Given the description of an element on the screen output the (x, y) to click on. 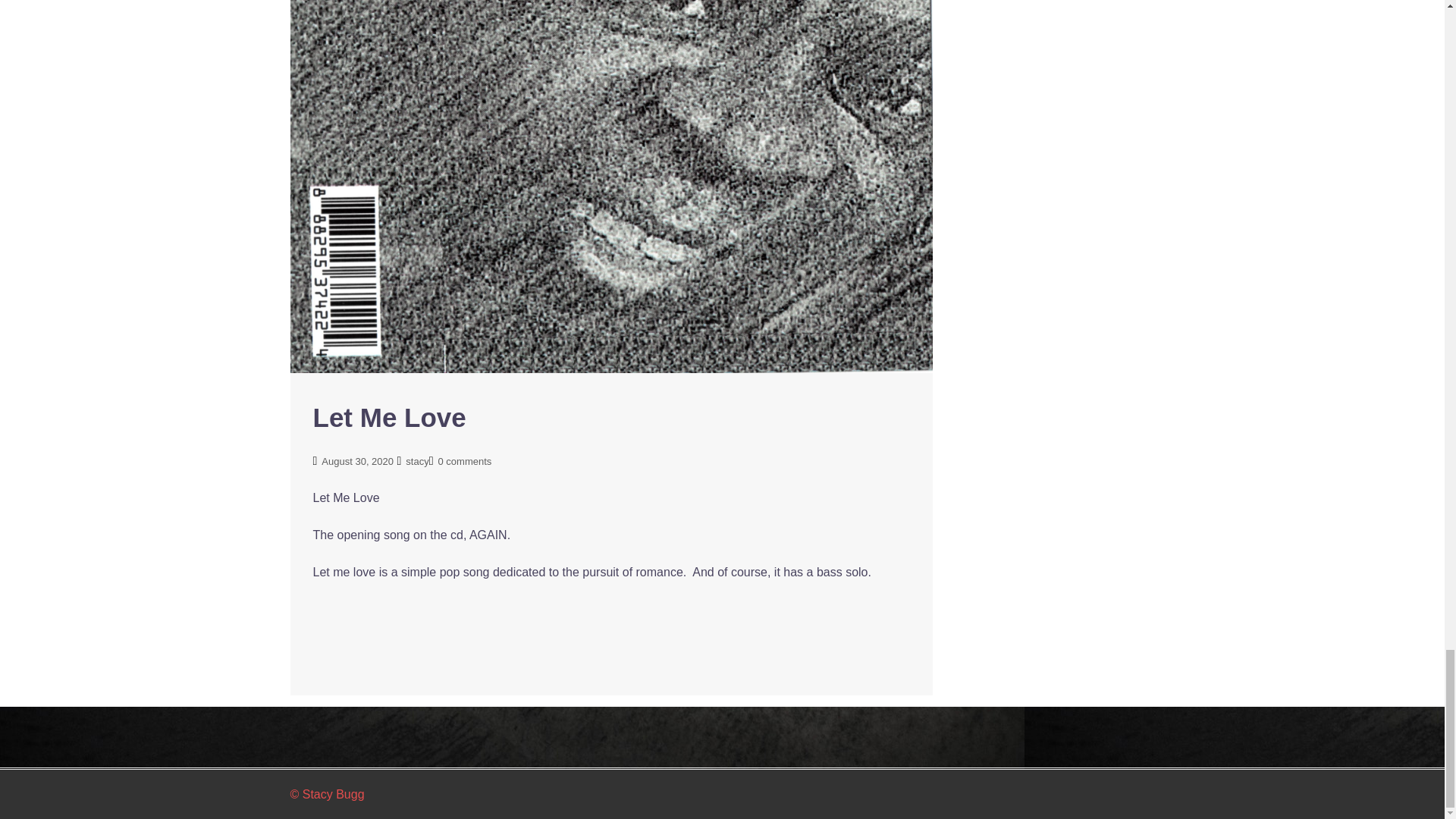
Let Me Love (389, 417)
stacy (417, 460)
August 30, 2020 (357, 460)
0 comments (465, 460)
Let Me Love (611, 62)
